Given the description of an element on the screen output the (x, y) to click on. 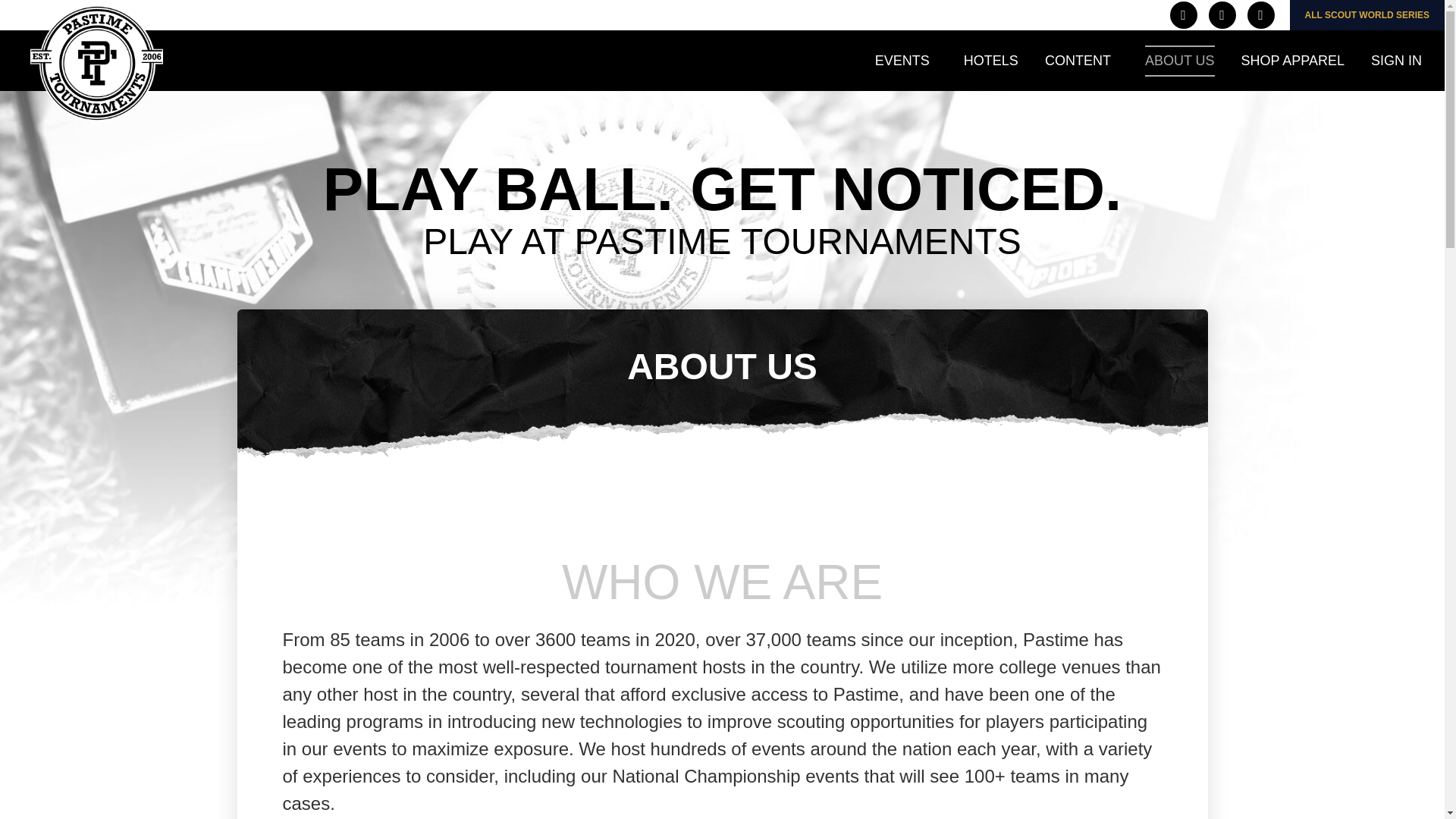
CONTENT (1081, 60)
HOTELS (990, 60)
SHOP APPAREL (1292, 60)
ABOUT US (1179, 60)
EVENTS (906, 60)
SIGN IN (1400, 60)
